Given the description of an element on the screen output the (x, y) to click on. 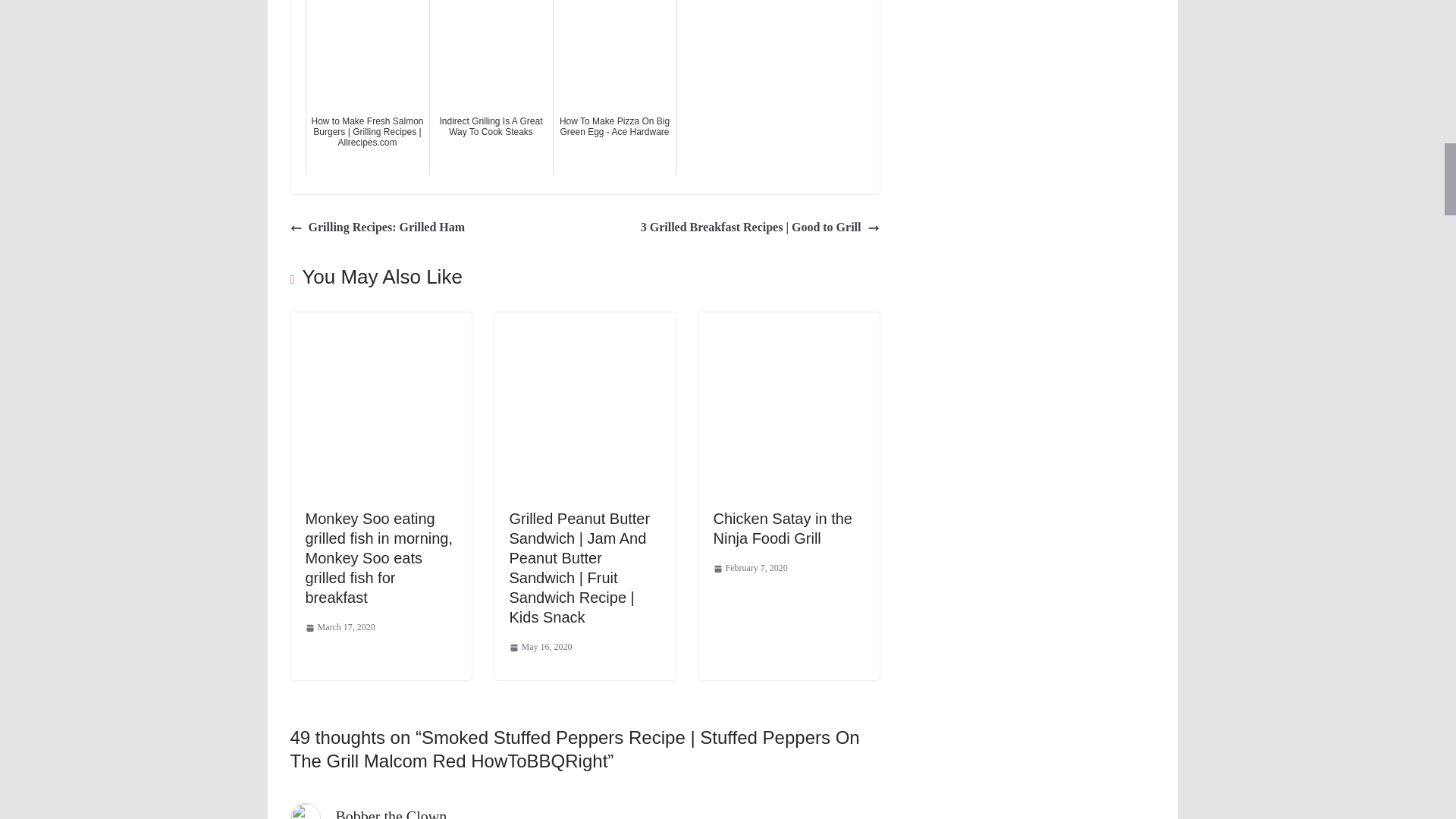
Bobber the Clown (390, 813)
Grilling Recipes: Grilled Ham (376, 228)
5:25 pm (540, 647)
May 16, 2020 (540, 647)
Chicken Satay in the Ninja Foodi Grill (782, 528)
10:33 pm (339, 627)
March 17, 2020 (339, 627)
